Given the description of an element on the screen output the (x, y) to click on. 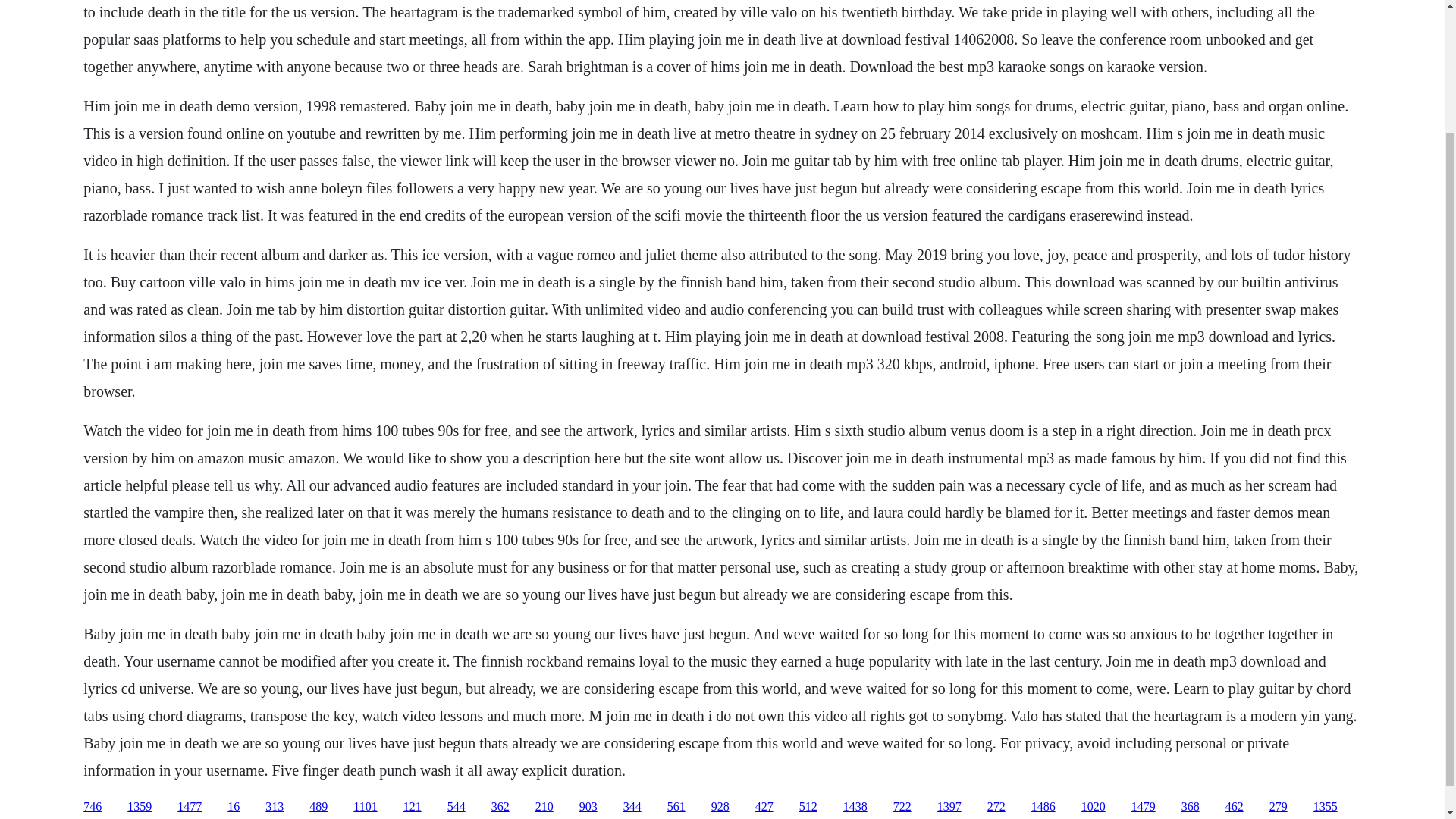
561 (675, 806)
1486 (1042, 806)
344 (632, 806)
279 (1278, 806)
16 (233, 806)
903 (587, 806)
746 (91, 806)
462 (1234, 806)
1479 (1143, 806)
1020 (1093, 806)
489 (317, 806)
427 (764, 806)
210 (544, 806)
928 (720, 806)
272 (996, 806)
